Given the description of an element on the screen output the (x, y) to click on. 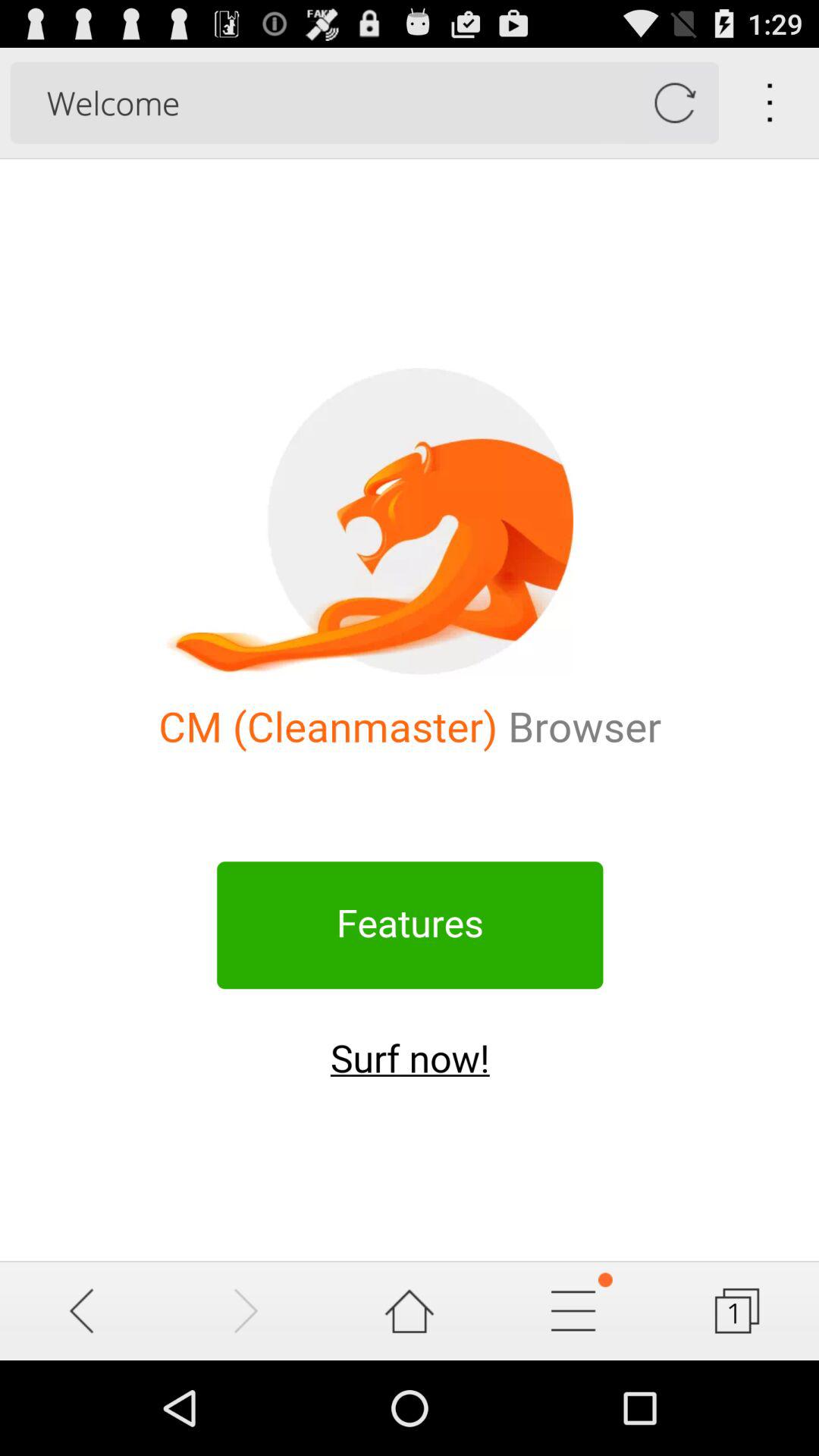
refresh (674, 102)
